Given the description of an element on the screen output the (x, y) to click on. 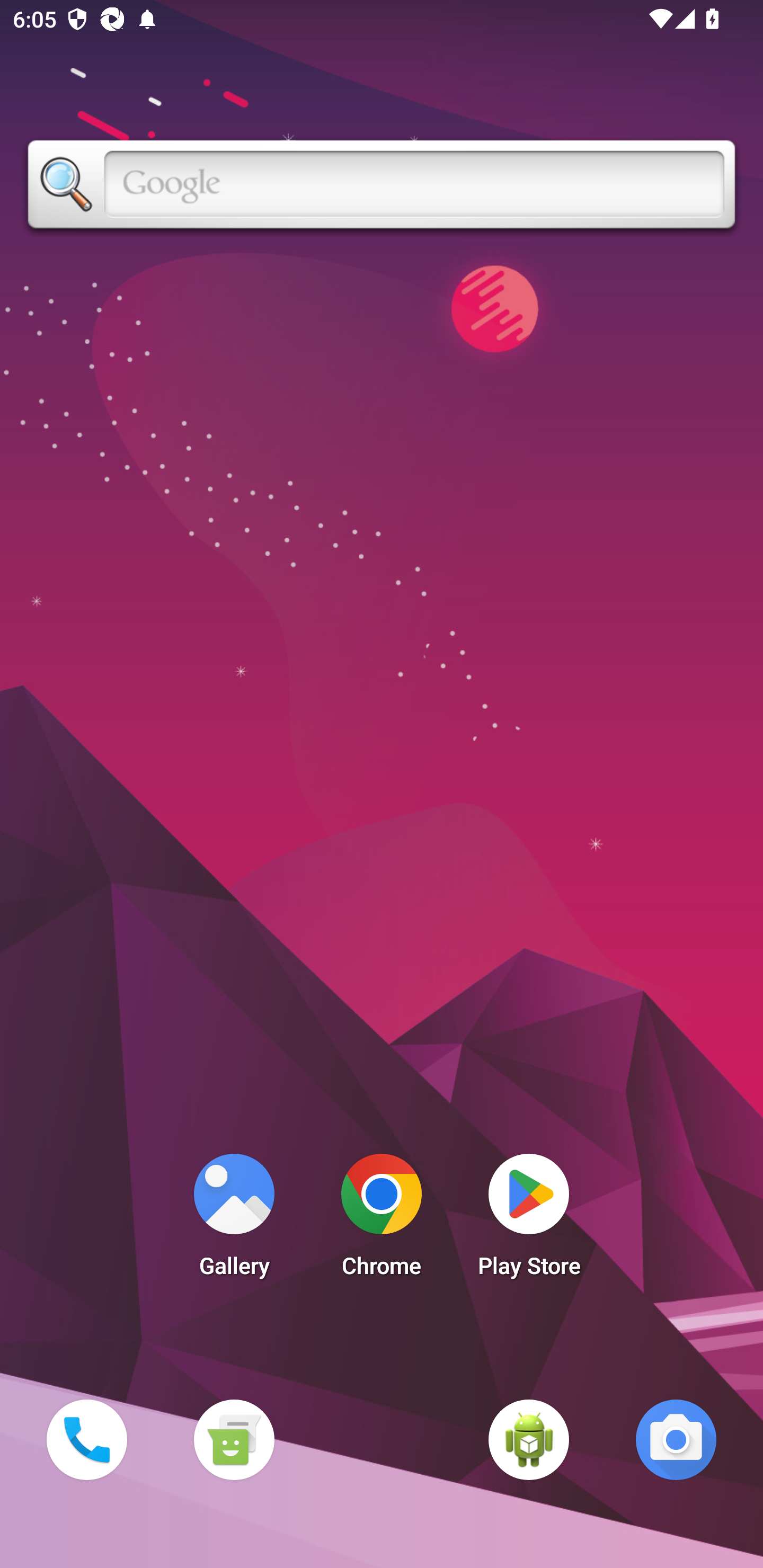
Gallery (233, 1220)
Chrome (381, 1220)
Play Store (528, 1220)
Phone (86, 1439)
Messaging (233, 1439)
WebView Browser Tester (528, 1439)
Camera (676, 1439)
